Given the description of an element on the screen output the (x, y) to click on. 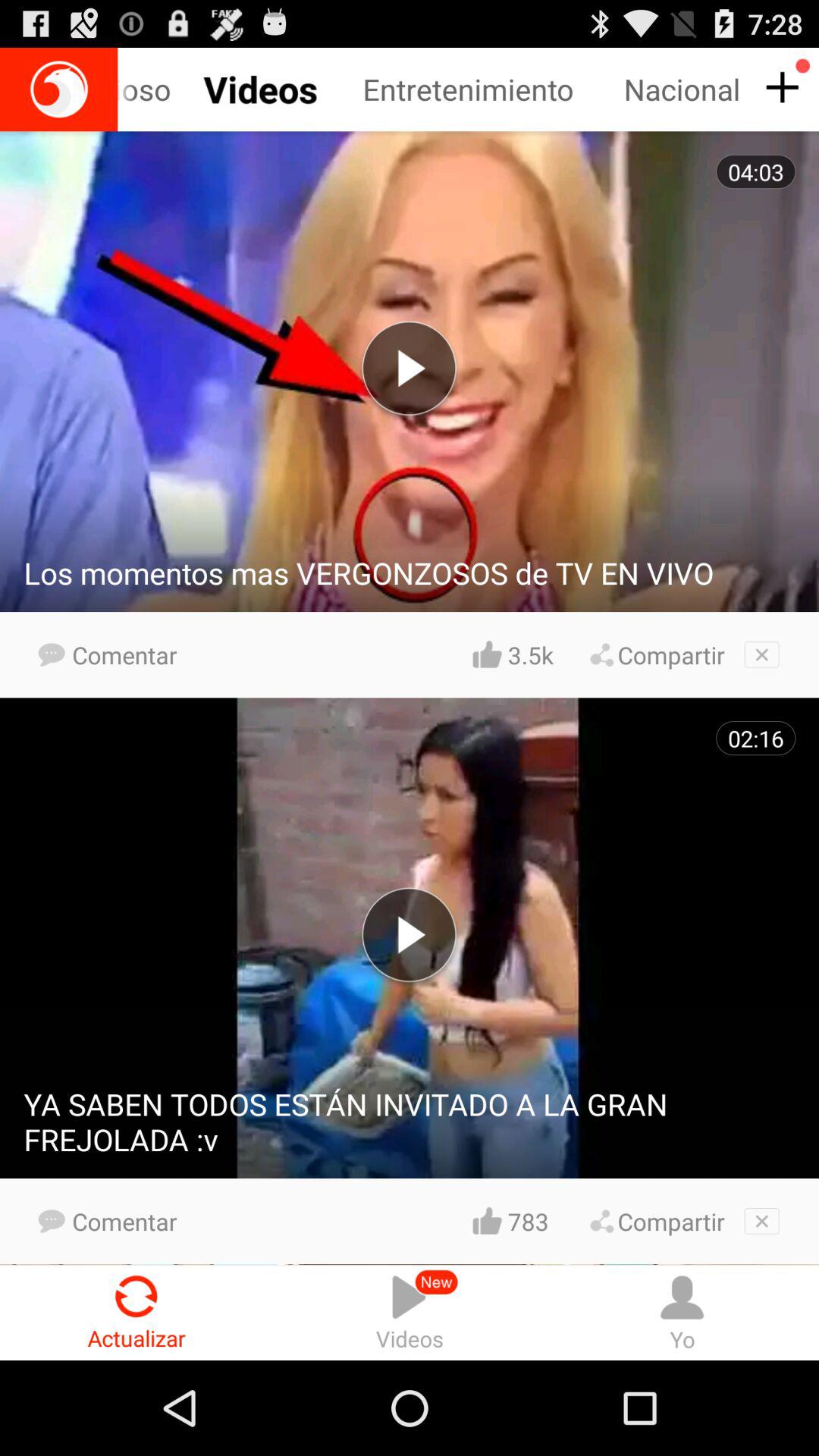
close window (761, 654)
